Given the description of an element on the screen output the (x, y) to click on. 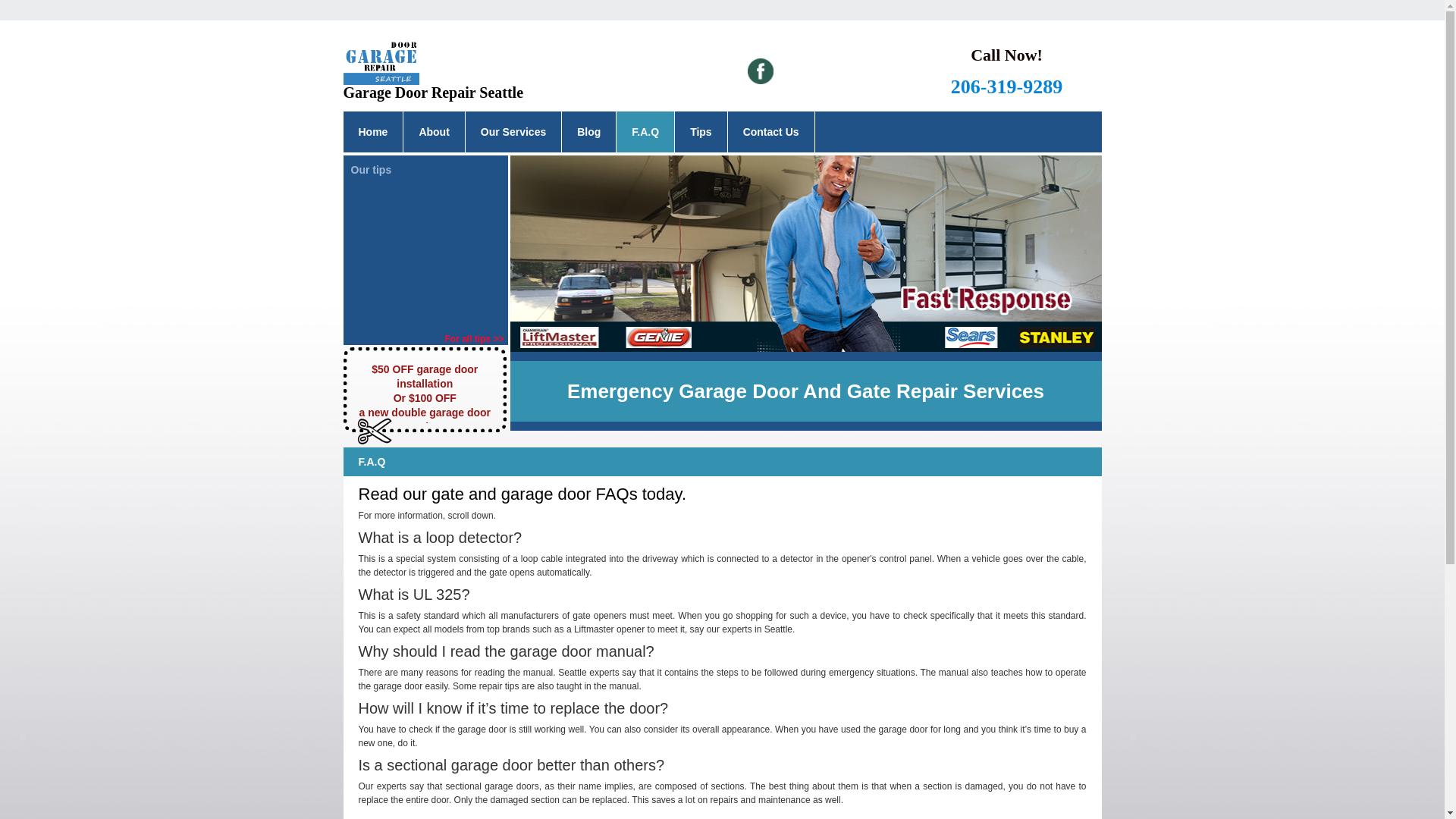
Facebook (760, 71)
About (433, 131)
Contact Us (770, 131)
Facebook (760, 71)
F.A.Q (644, 131)
Our Services (512, 131)
Blog (588, 131)
Home (372, 131)
Tips (700, 131)
